Given the description of an element on the screen output the (x, y) to click on. 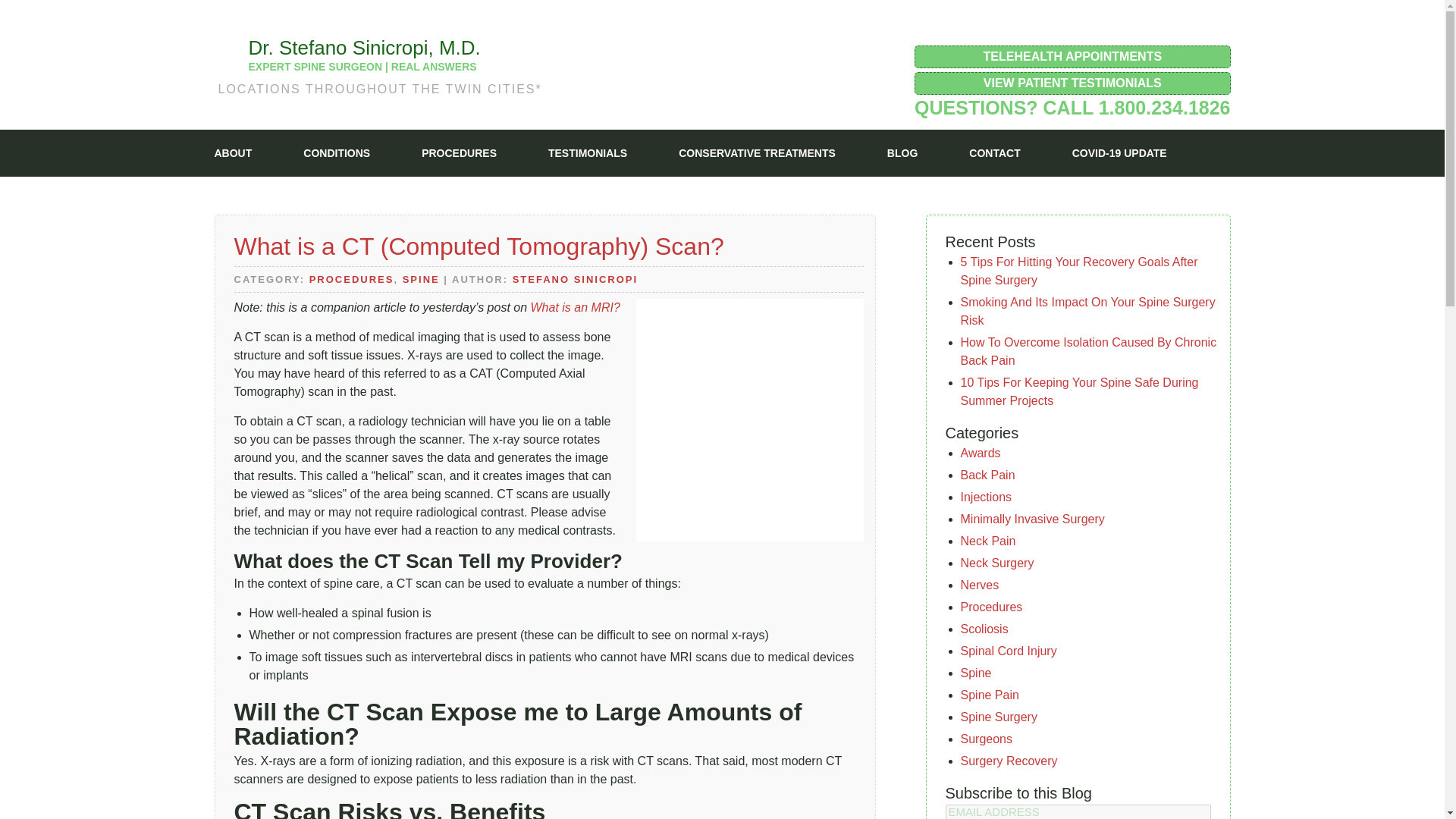
BLOG (901, 152)
QUESTIONS? CALL 1.800.234.1826 (1072, 107)
Twitter (1158, 29)
Facebook (1116, 29)
COVID-19 UPDATE (1119, 152)
CONDITIONS (335, 152)
Dr. Stefano Sinicropi, M.D. (364, 47)
CONSERVATIVE TREATMENTS (756, 152)
CONTACT (994, 152)
PROCEDURES (459, 152)
TELEHEALTH APPOINTMENTS (1072, 56)
PROCEDURES (351, 279)
Youtube (1209, 29)
VIEW PATIENT TESTIMONIALS (1072, 83)
TESTIMONIALS (587, 152)
